Given the description of an element on the screen output the (x, y) to click on. 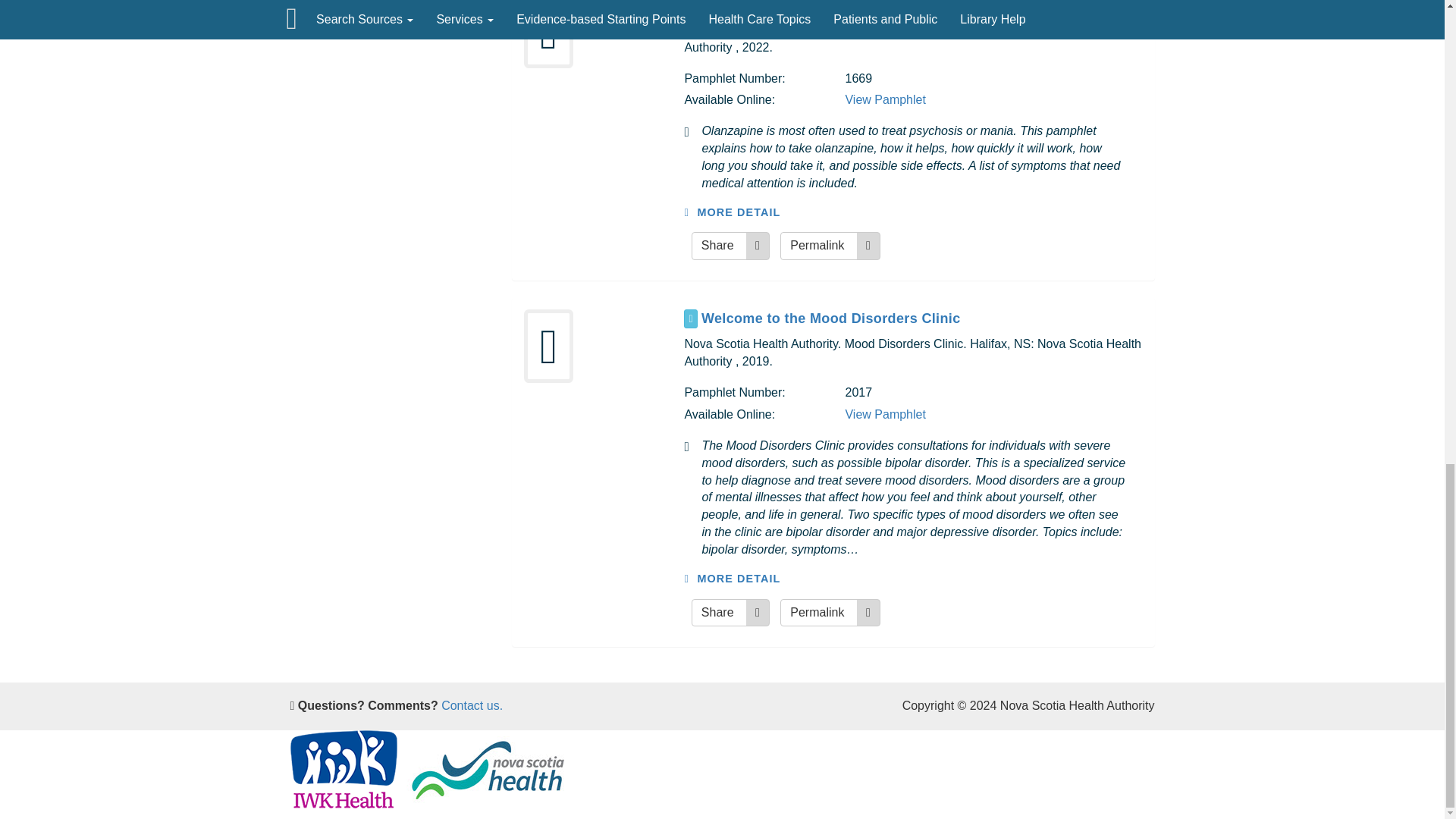
Toggle Full Record (690, 318)
Toggle Full Record (921, 7)
Permalink (829, 245)
Toggle Full Record (921, 318)
Permalink (829, 612)
Toggle Full Record (690, 7)
